Given the description of an element on the screen output the (x, y) to click on. 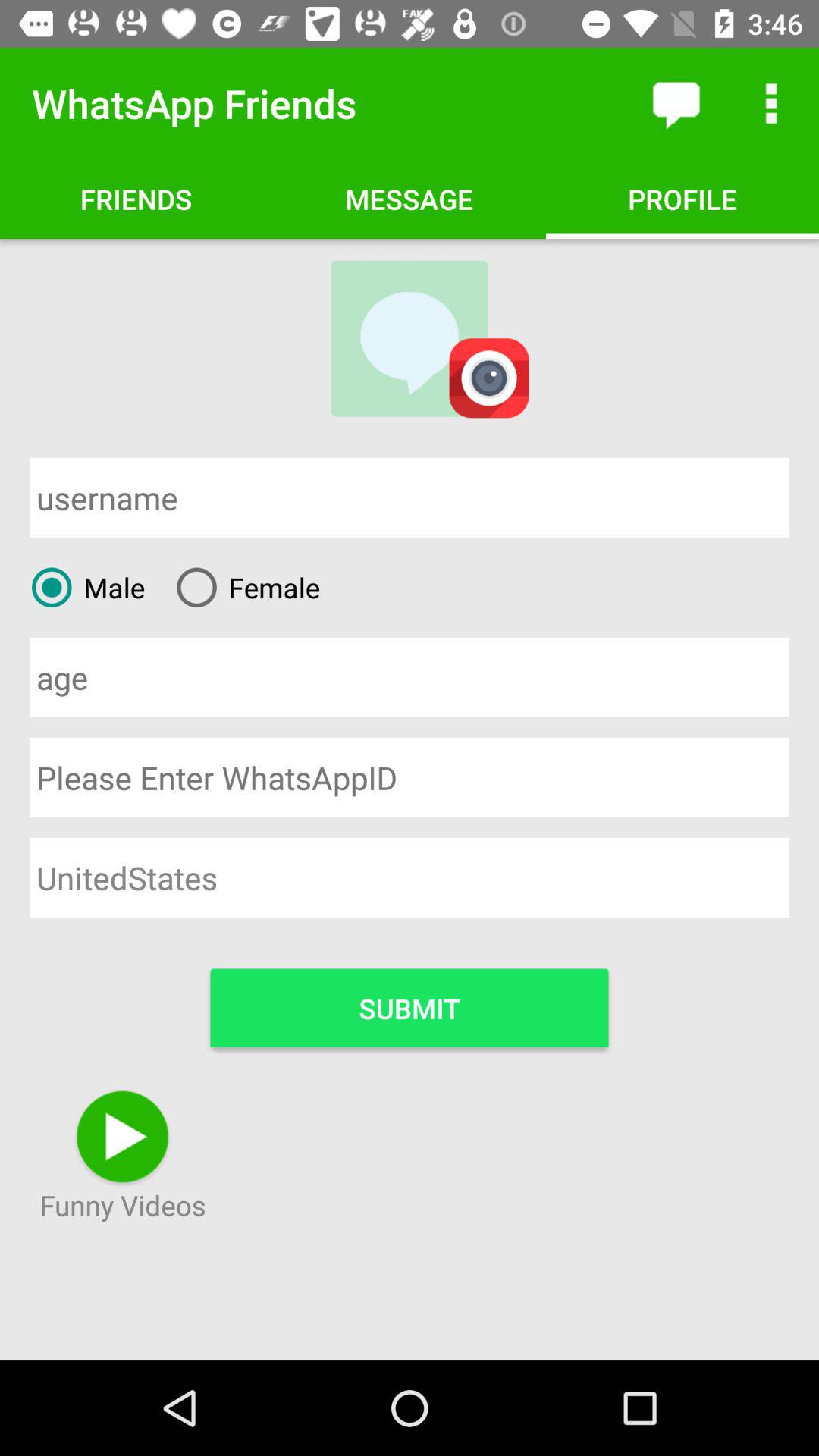
new message (675, 103)
